Given the description of an element on the screen output the (x, y) to click on. 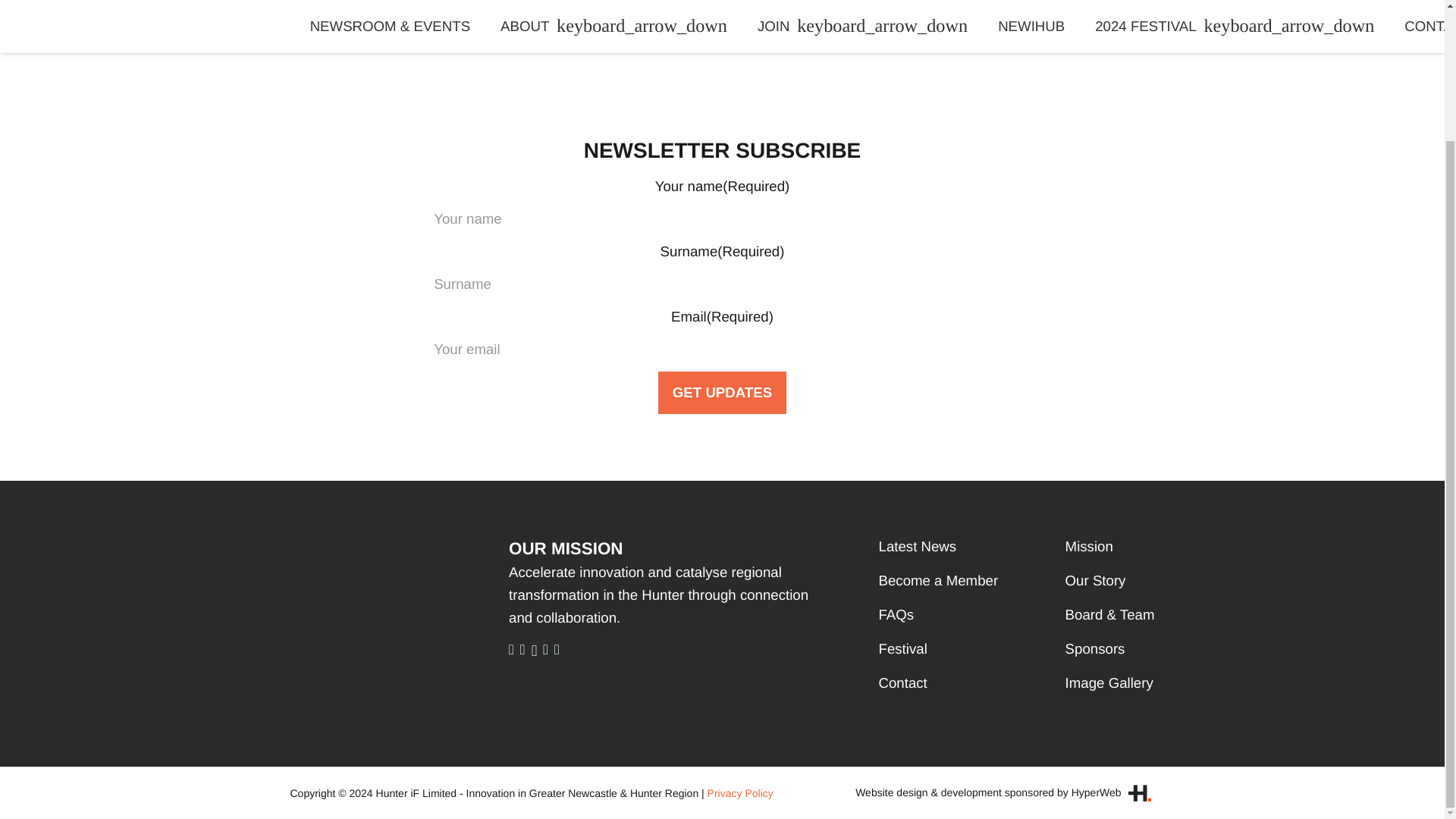
Festival (901, 648)
Get updates (722, 392)
Sponsors (1095, 648)
Get updates (722, 392)
Latest News (916, 546)
Image Gallery (1109, 682)
Privacy Policy (740, 793)
Become a Member (937, 580)
Contact (901, 682)
Mission (1089, 546)
FAQs (895, 614)
Our Story (1095, 580)
